Given the description of an element on the screen output the (x, y) to click on. 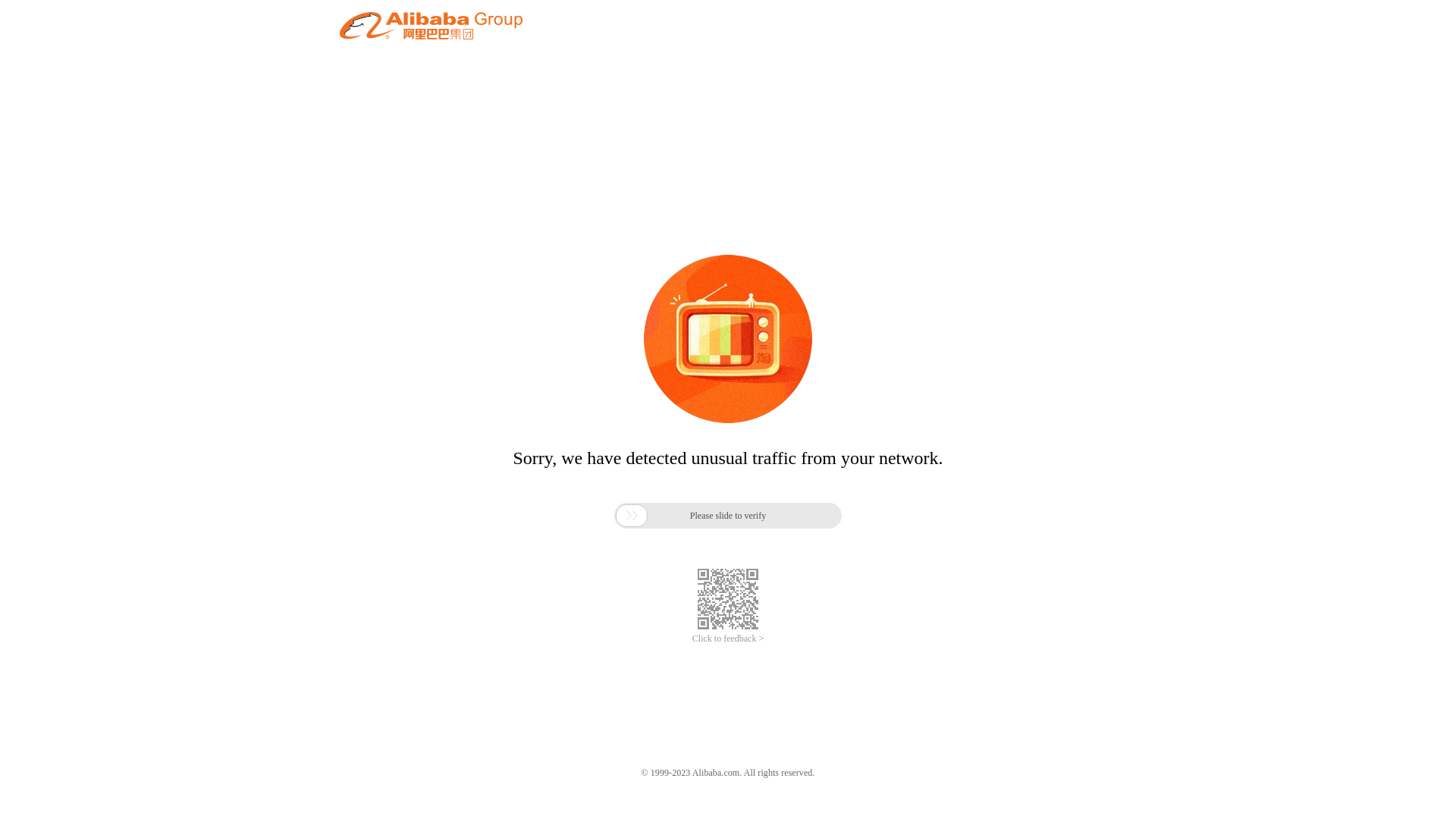
Click to feedback > Element type: text (727, 638)
